Given the description of an element on the screen output the (x, y) to click on. 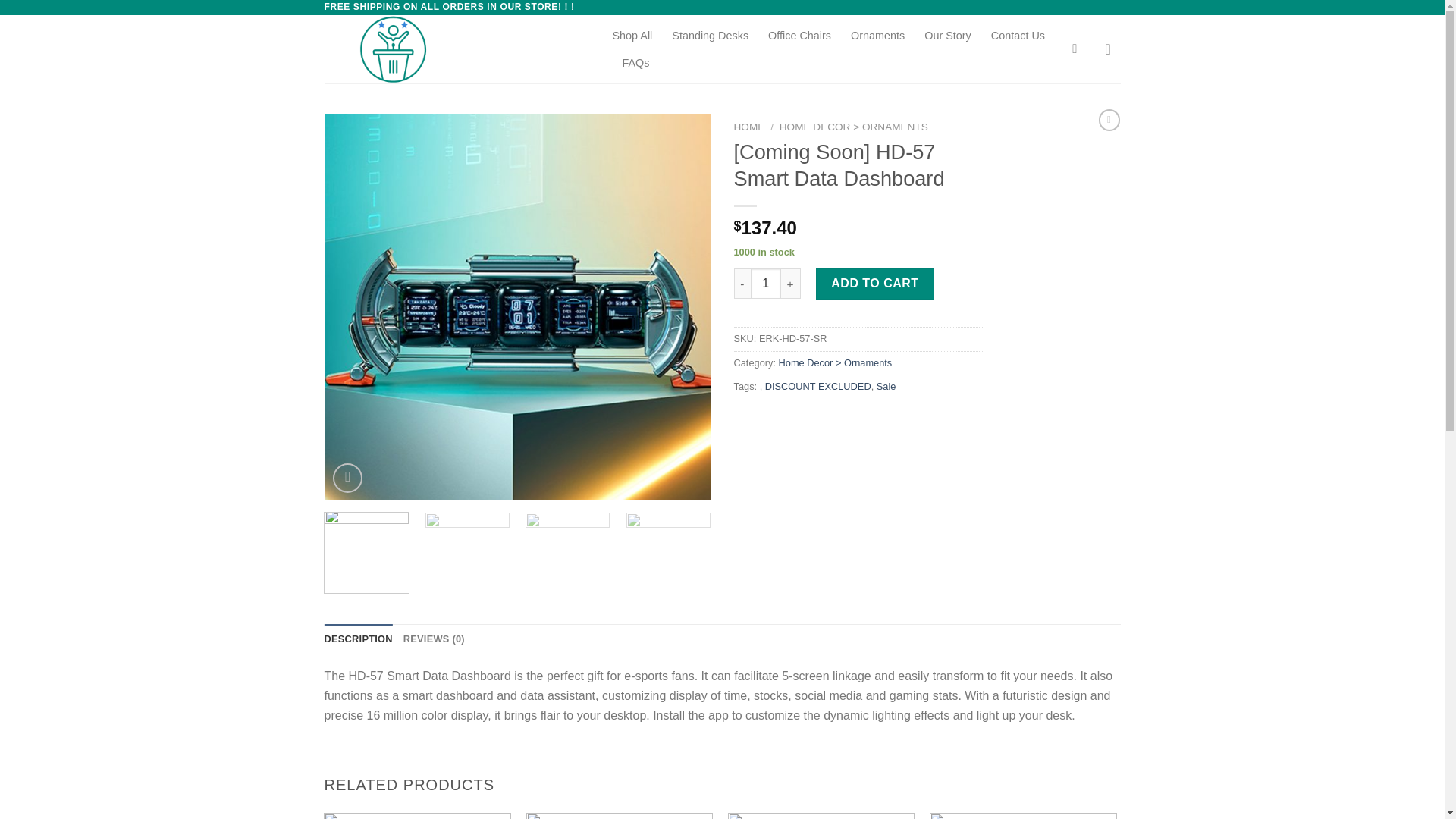
Office Chairs (799, 35)
Qty (765, 283)
Standing Desks (709, 35)
Contact Us (1018, 35)
ADD TO CART (874, 283)
Sale (886, 386)
Shop All (632, 35)
HOME (749, 126)
DISCOUNT EXCLUDED (817, 386)
Zoom (347, 478)
1 (765, 283)
FAQs (635, 62)
DESCRIPTION (358, 639)
Bellybandccw (456, 49)
Ornaments (877, 35)
